Given the description of an element on the screen output the (x, y) to click on. 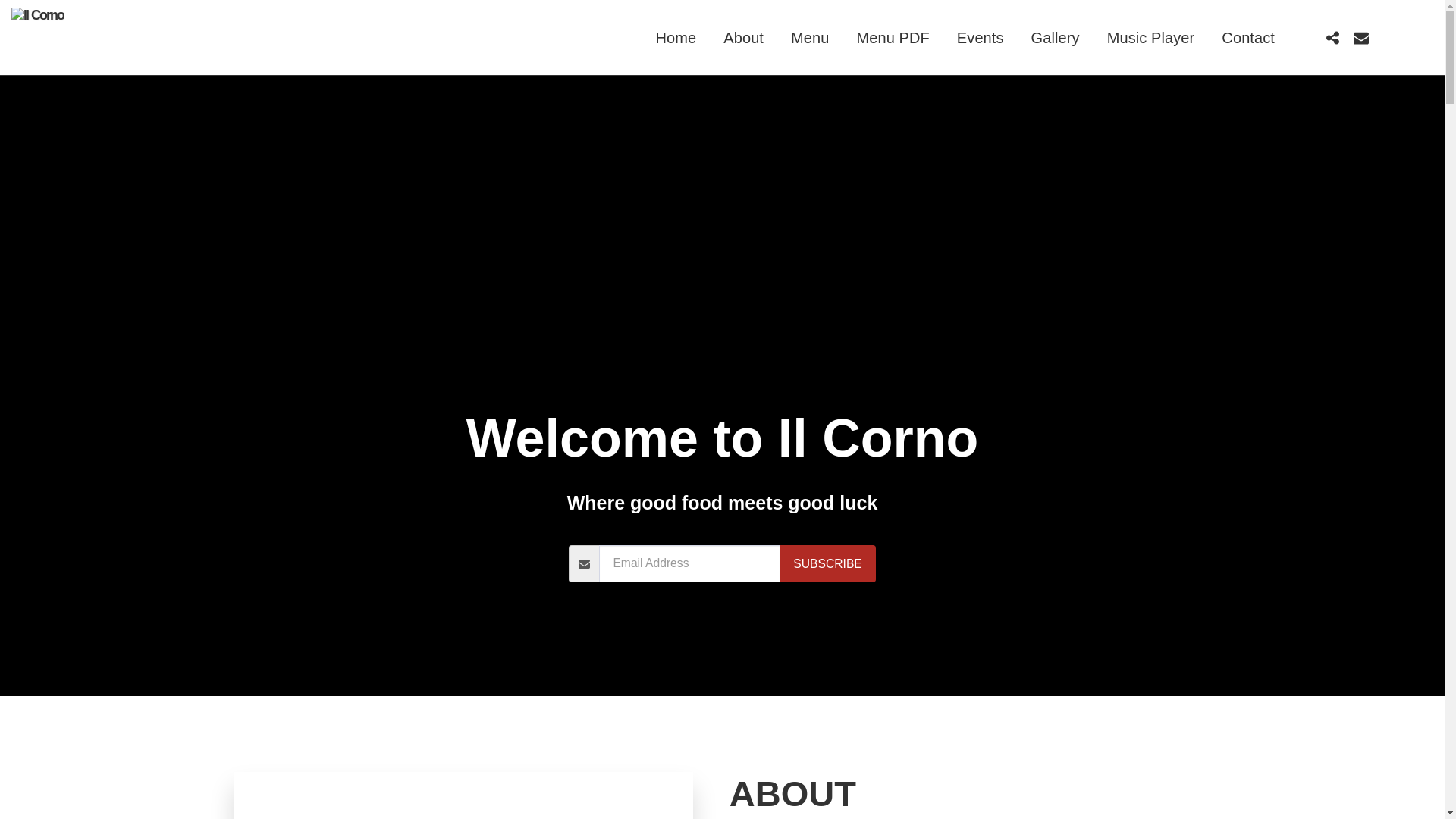
Music Player (1150, 37)
Gallery (1055, 37)
Events (980, 37)
Home (676, 37)
Menu (809, 37)
Events (980, 37)
SUBSCRIBE (828, 563)
Contact (1248, 37)
About (743, 37)
Menu (809, 37)
Gallery (1055, 37)
Music Player (1150, 37)
Menu PDF (892, 37)
